Given the description of an element on the screen output the (x, y) to click on. 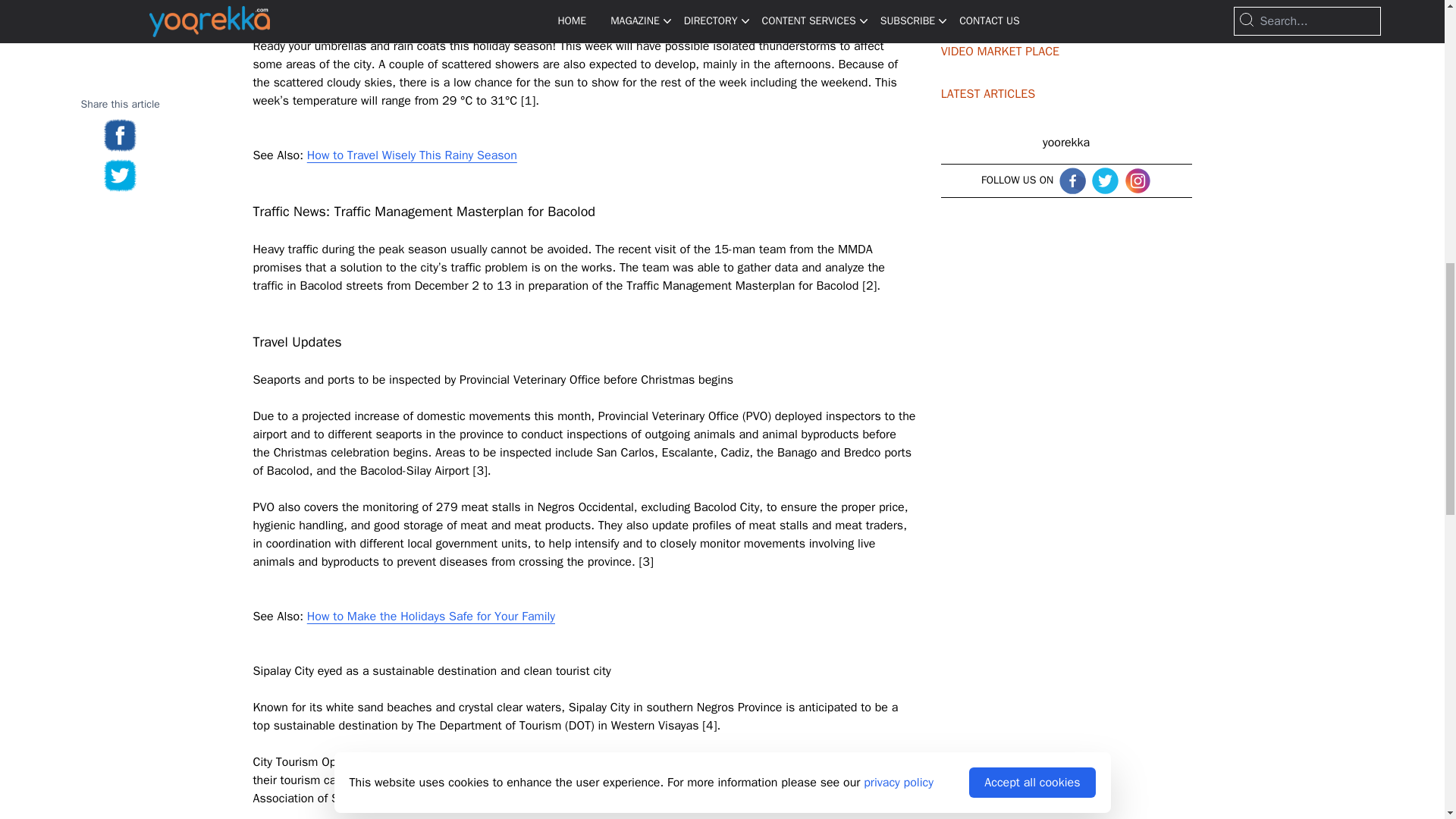
Facebook (1072, 180)
Twitter (1105, 180)
Instagram (1137, 180)
